Given the description of an element on the screen output the (x, y) to click on. 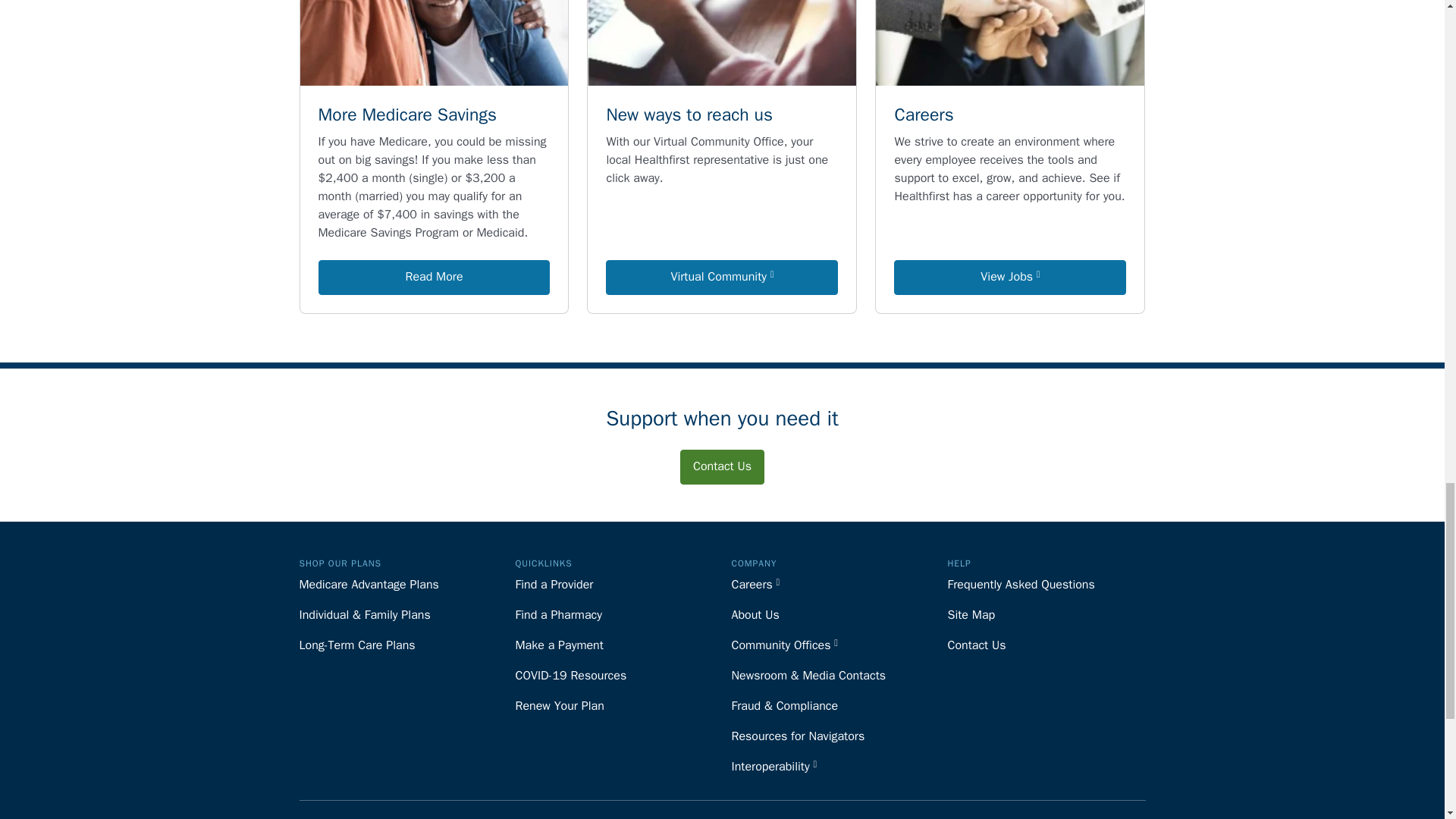
View Jobs (1009, 277)
Contact Us (721, 466)
Virtual Community (721, 277)
Read More (434, 277)
